Given the description of an element on the screen output the (x, y) to click on. 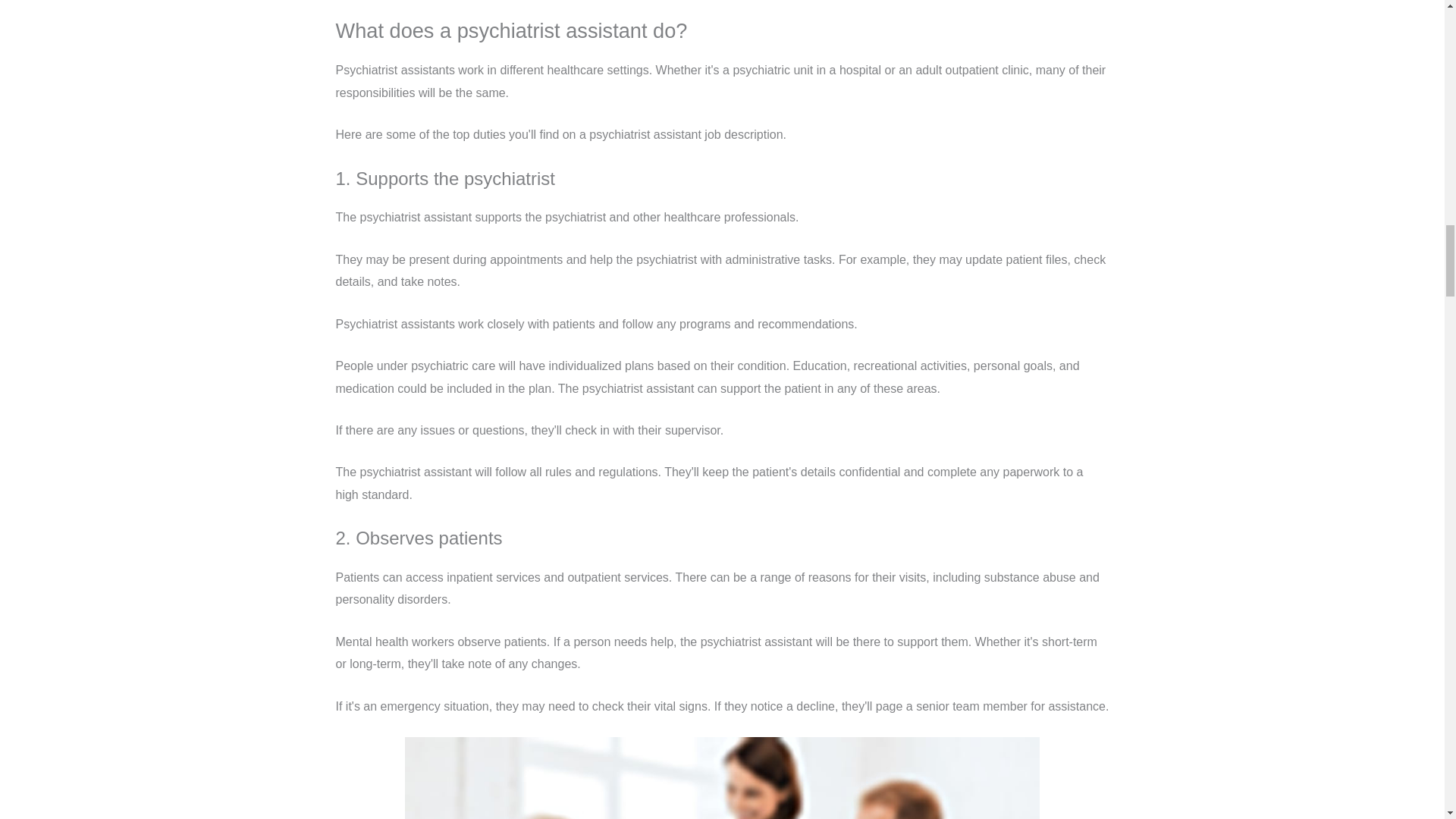
Observe Patients (721, 778)
